Given the description of an element on the screen output the (x, y) to click on. 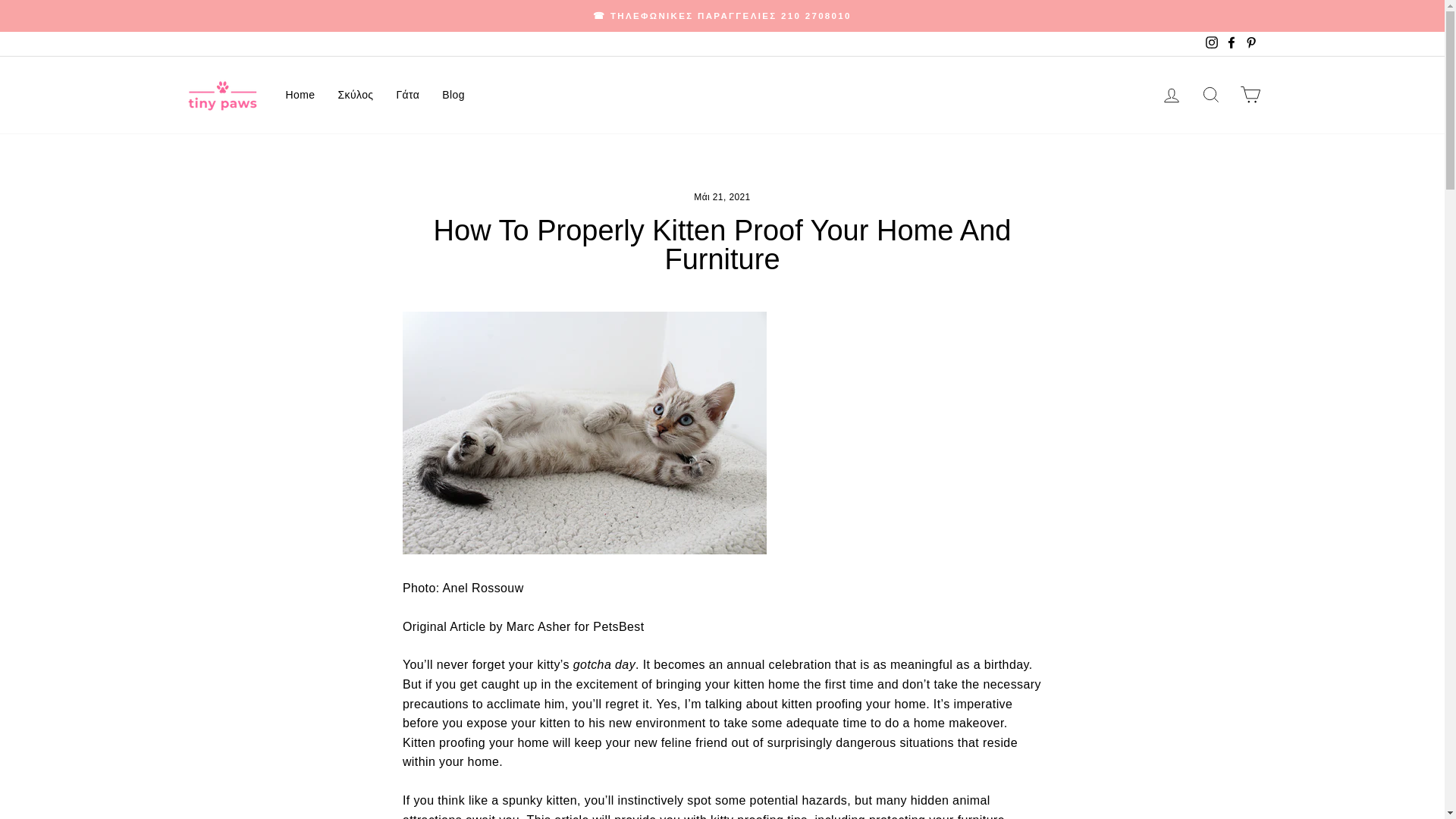
Home (300, 94)
